Given the description of an element on the screen output the (x, y) to click on. 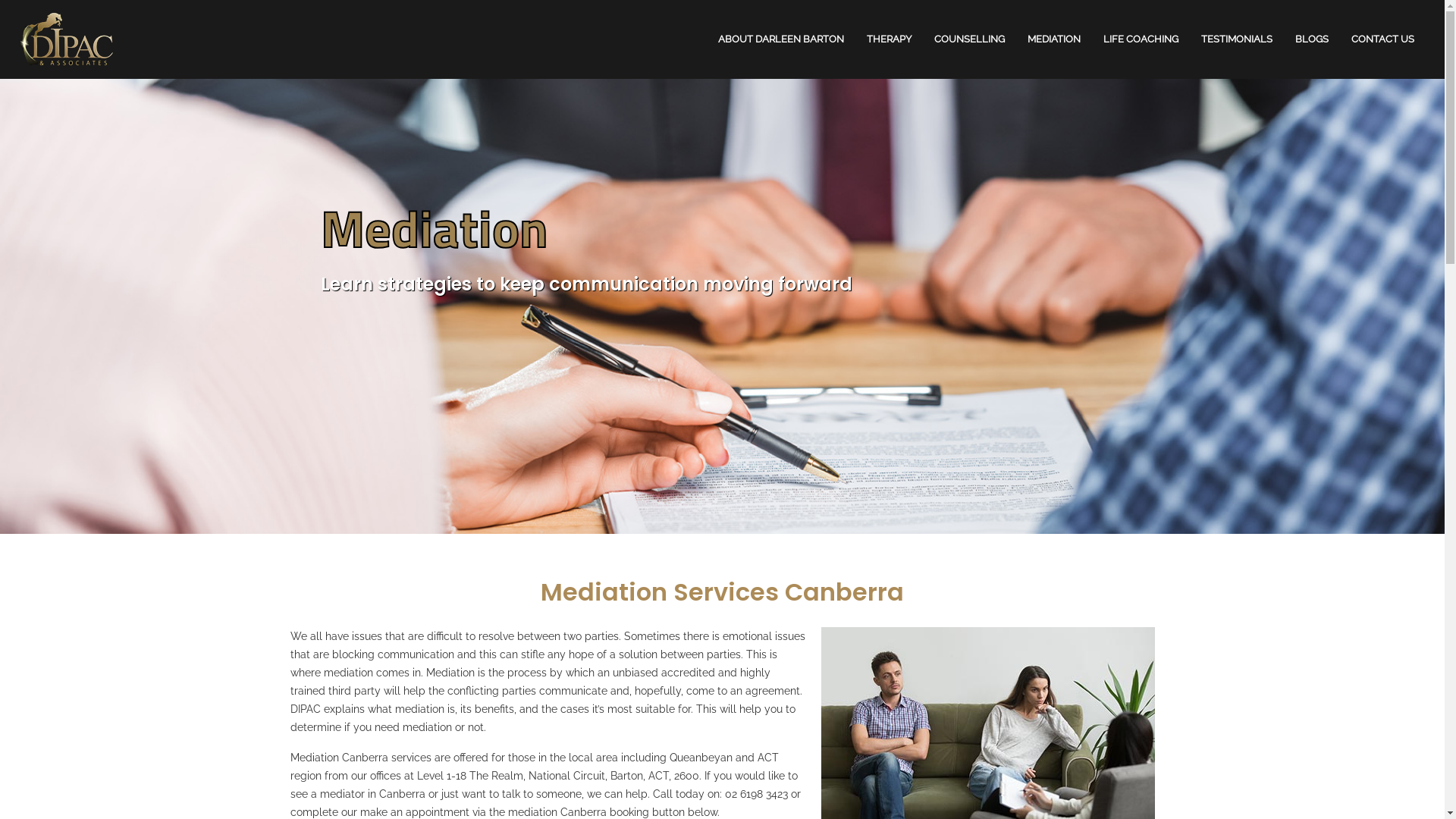
COUNSELLING Element type: text (969, 39)
MEDIATION Element type: text (1054, 39)
ABOUT DARLEEN BARTON Element type: text (780, 39)
BLOGS Element type: text (1311, 39)
THERAPY Element type: text (888, 39)
TESTIMONIALS Element type: text (1236, 39)
LIFE COACHING Element type: text (1140, 39)
CONTACT US Element type: text (1382, 39)
